Given the description of an element on the screen output the (x, y) to click on. 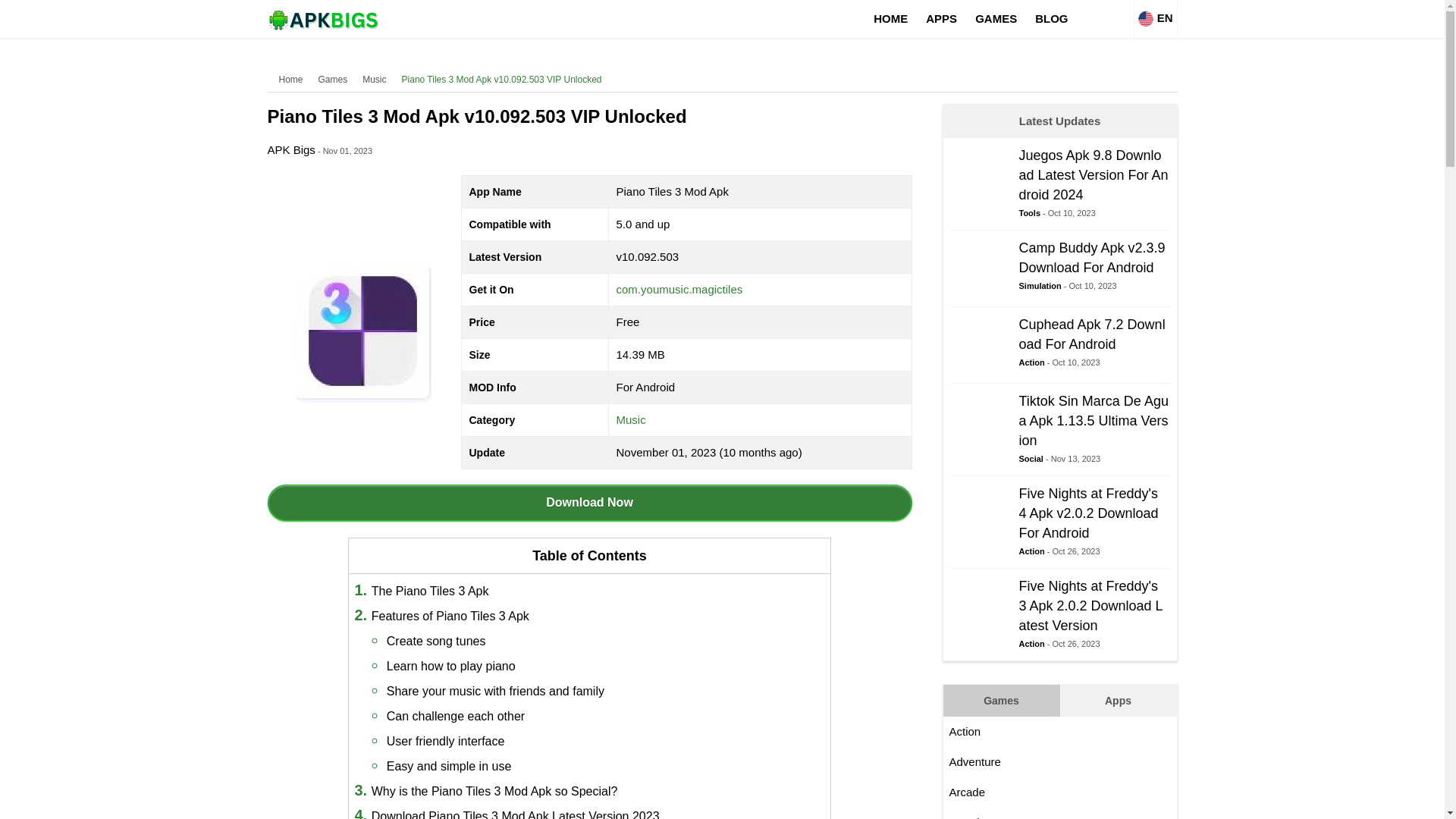
Music (630, 419)
HOME (890, 18)
Create song tunes (436, 640)
APPS (941, 18)
APK Bigs (1059, 349)
Download Now (290, 149)
Learn how to play piano (588, 502)
BLOG (451, 666)
Music (1051, 18)
